Given the description of an element on the screen output the (x, y) to click on. 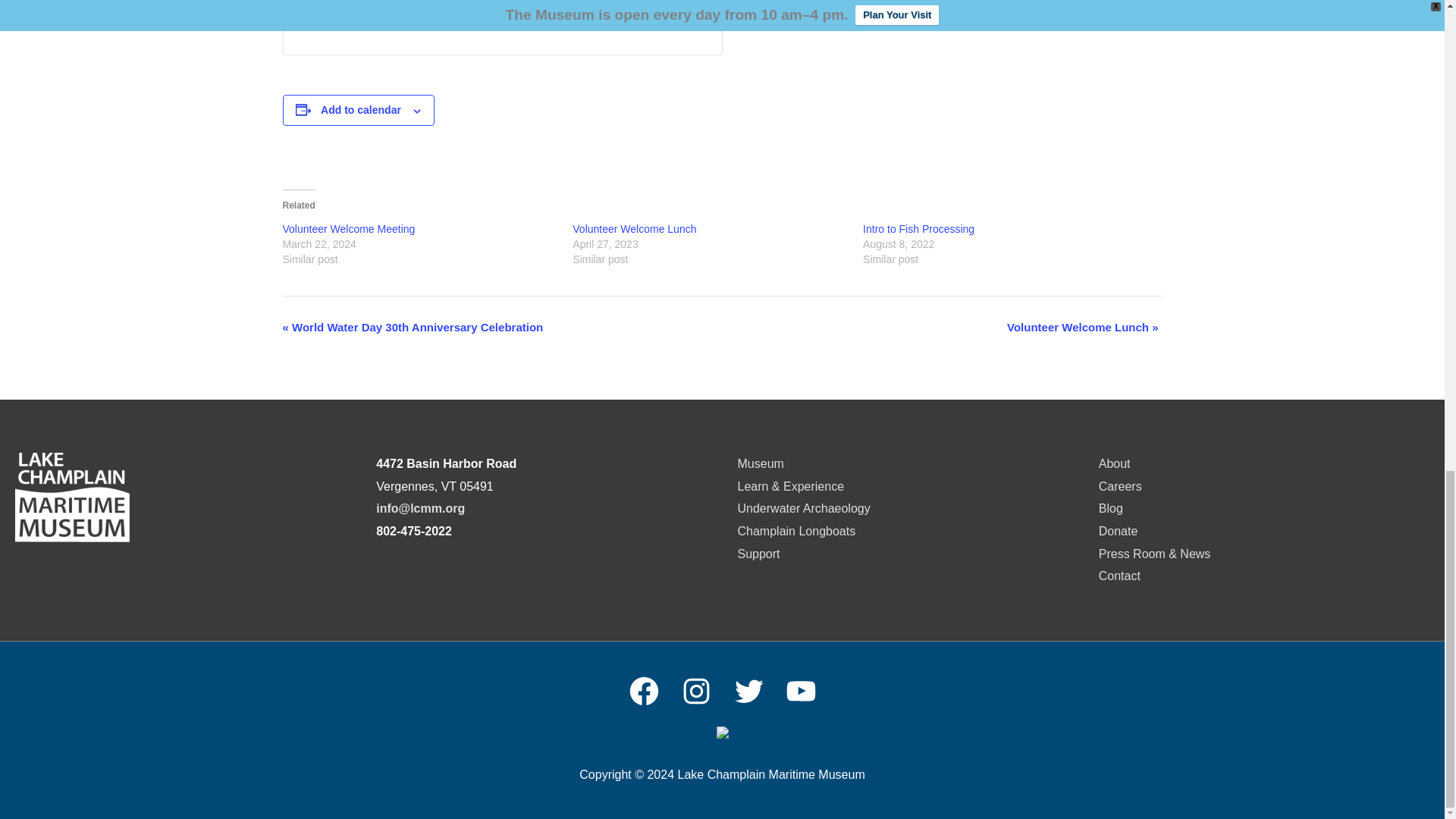
Volunteer Welcome Meeting (348, 228)
Intro to Fish Processing (918, 228)
Volunteer Welcome Lunch (633, 228)
